Given the description of an element on the screen output the (x, y) to click on. 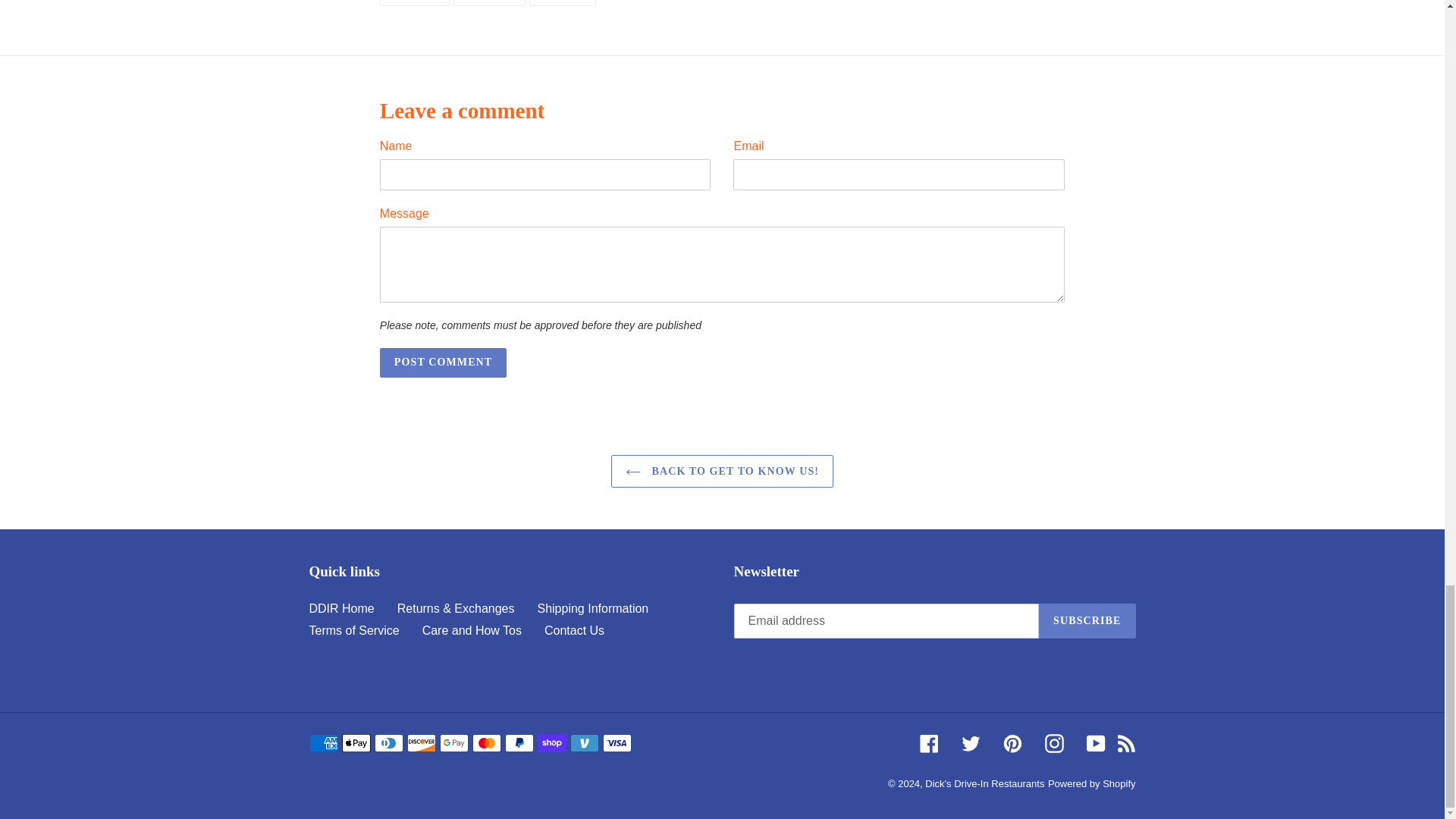
Post comment (443, 362)
